Given the description of an element on the screen output the (x, y) to click on. 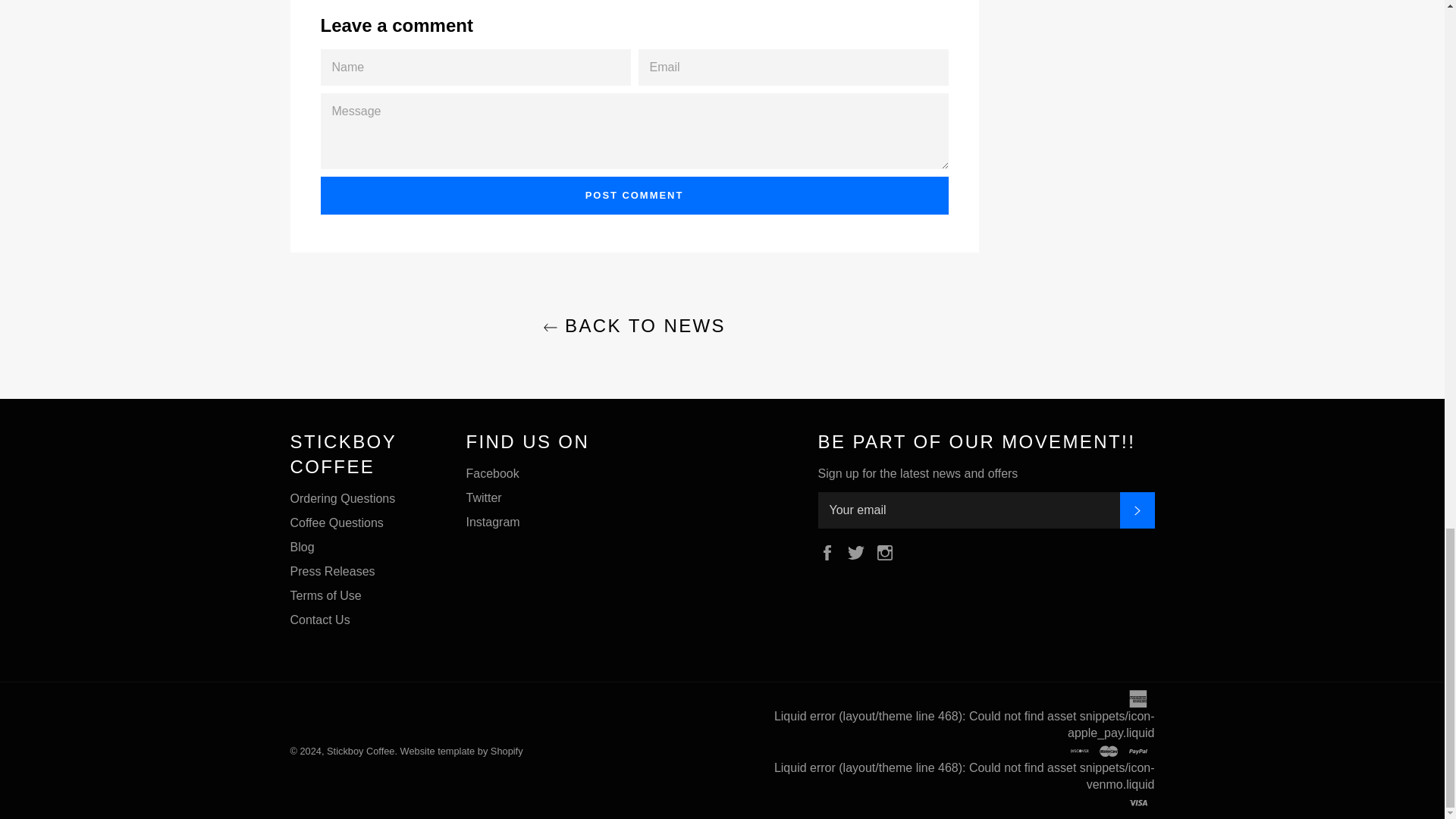
Facebook (829, 551)
Stickboy Coffee on Facebook (829, 551)
Stickboy Coffee on Twitter (859, 551)
Stickboy Coffee on Instagram (888, 551)
Ordering Questions (341, 498)
Coffee Questions (335, 522)
Post comment (633, 195)
Post comment (633, 195)
SUBSCRIBE (1136, 510)
BACK TO NEWS (633, 325)
Instagram (888, 551)
Twitter (859, 551)
